Given the description of an element on the screen output the (x, y) to click on. 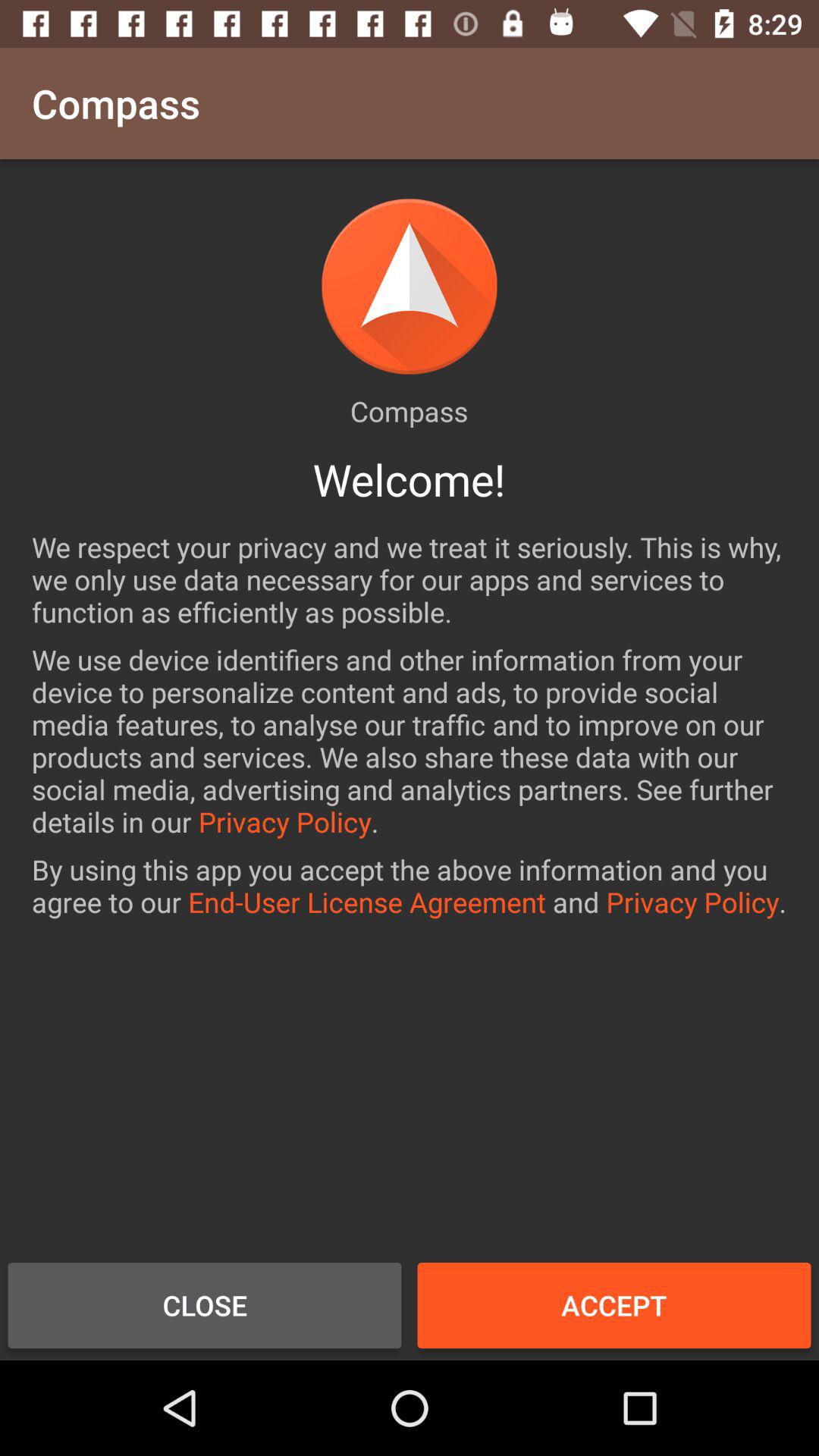
swipe until close icon (204, 1305)
